Given the description of an element on the screen output the (x, y) to click on. 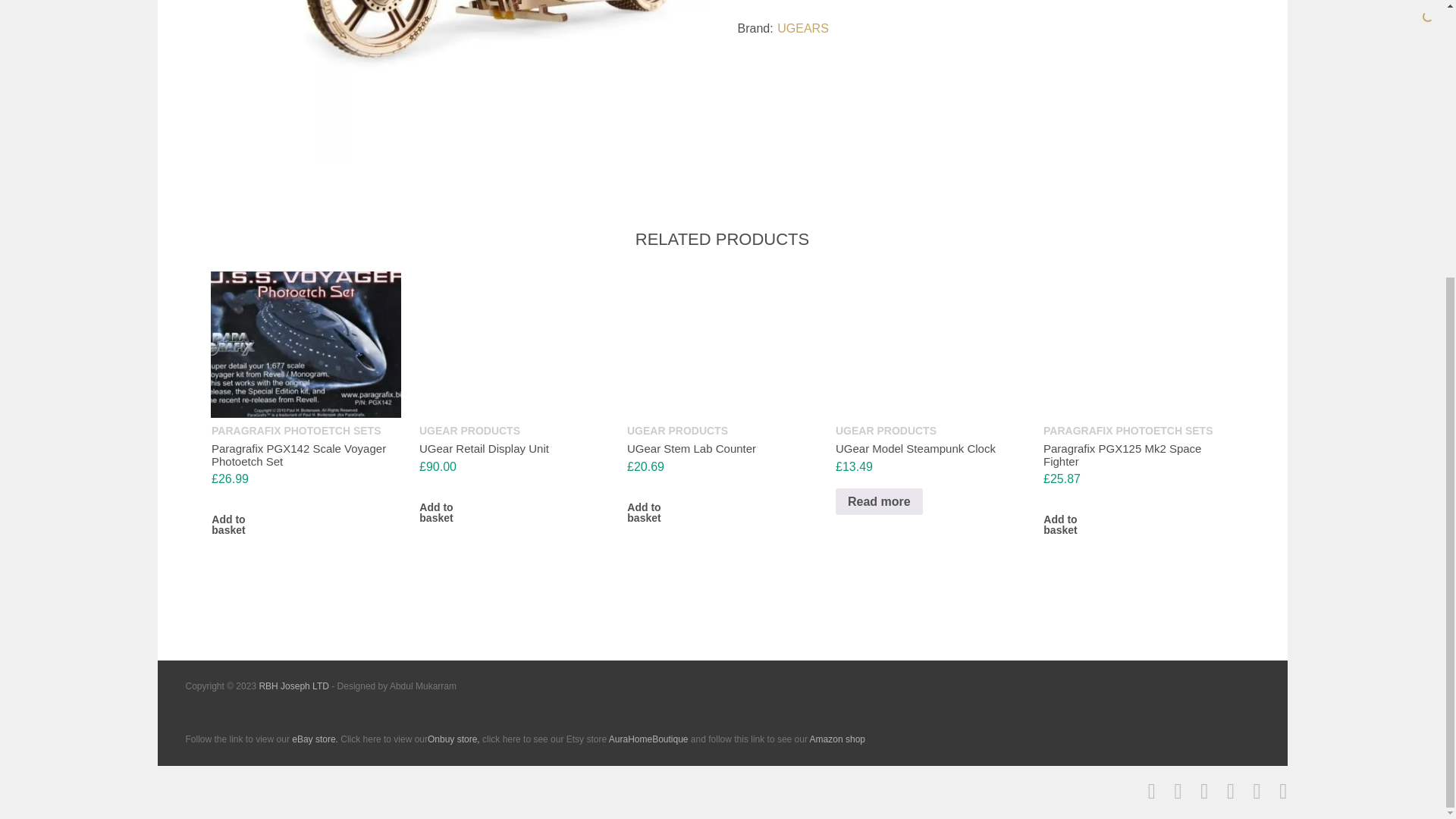
UGear Retail Display Unit (483, 448)
Paragrafix PGX142 Scale Voyager Photoetch Set (298, 454)
RBH Joseph LTD (294, 685)
Add to basket (435, 519)
Add to basket (227, 530)
UGEARS (802, 28)
View brand (802, 28)
